Given the description of an element on the screen output the (x, y) to click on. 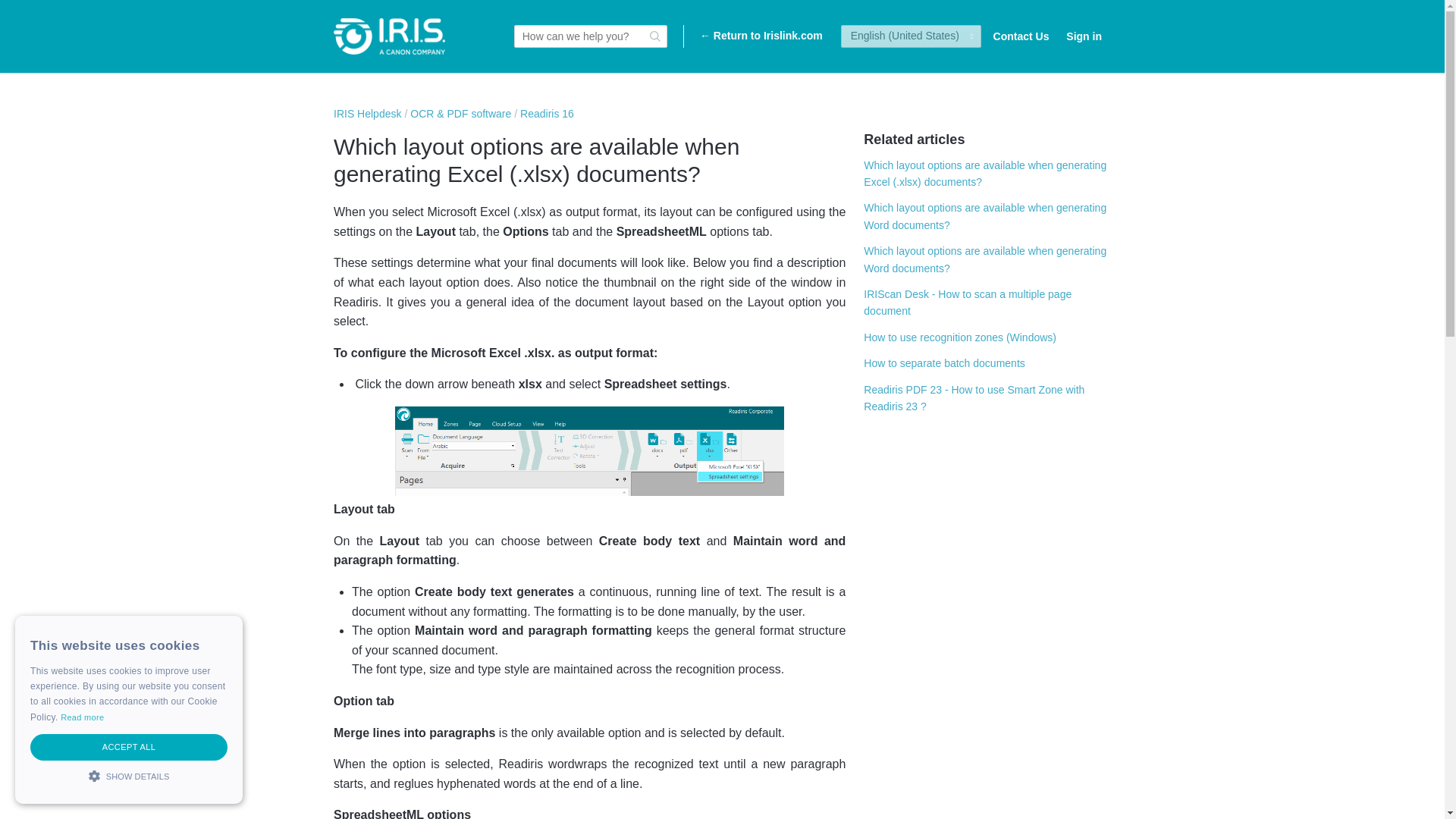
IRIScan Desk - How to scan a multiple page document (967, 302)
Go to homepage (389, 36)
Readiris 16 (546, 113)
How to separate batch documents (944, 363)
IRIS Helpdesk (367, 113)
Contact Us (1020, 36)
Read more (82, 716)
Sign in (1083, 36)
